Given the description of an element on the screen output the (x, y) to click on. 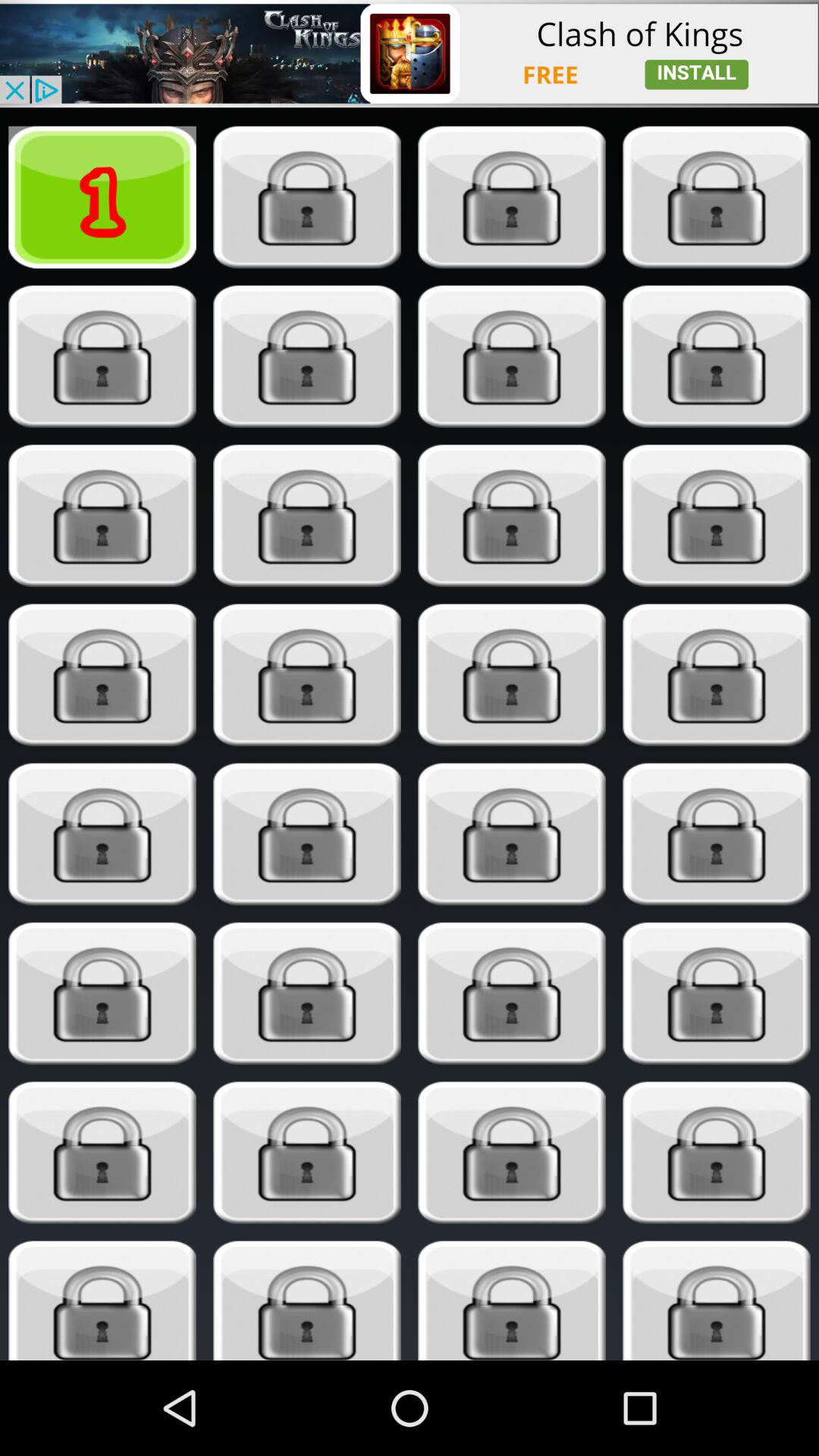
unlock button (306, 1300)
